Given the description of an element on the screen output the (x, y) to click on. 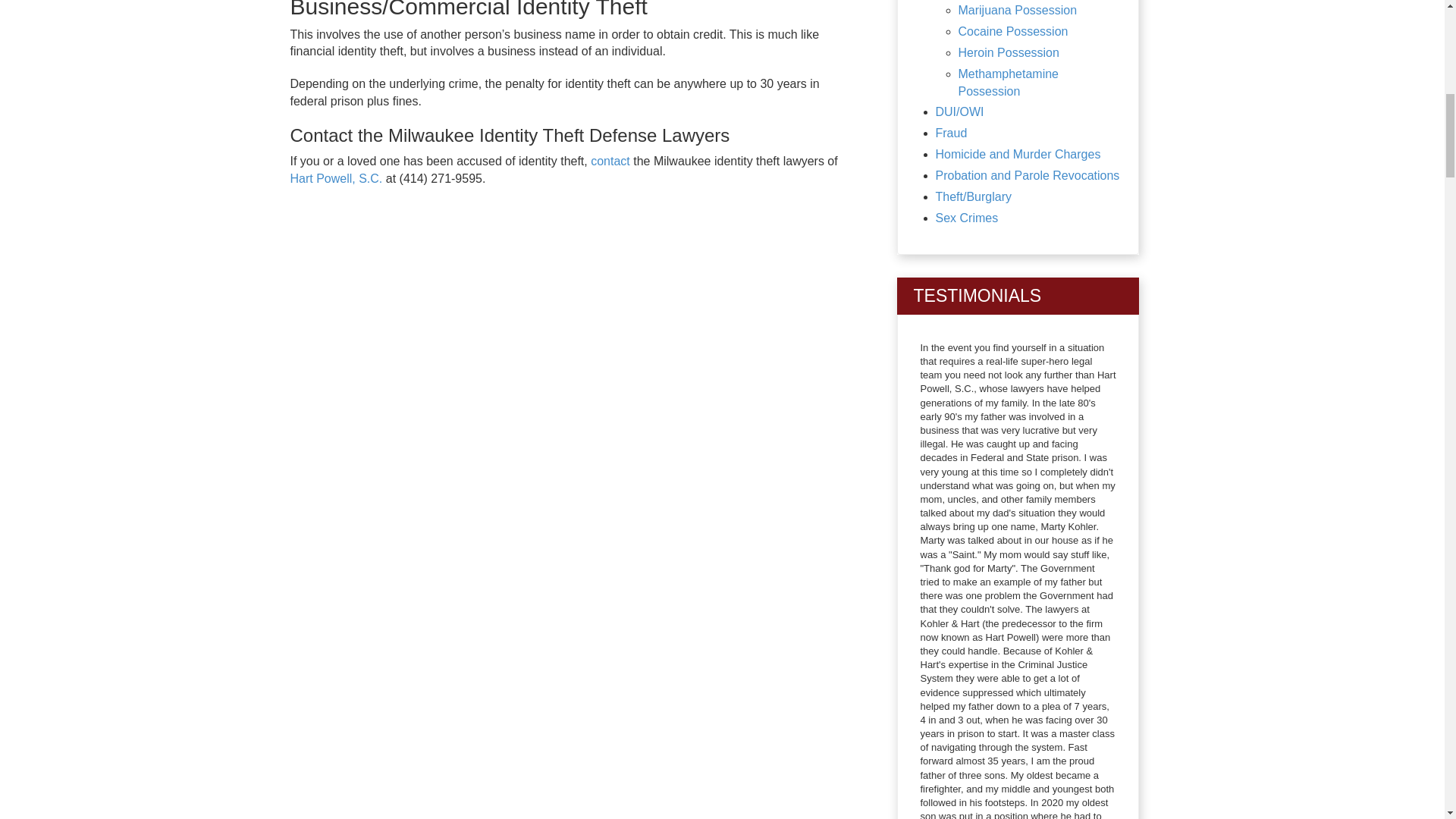
Hart Powell, S.C. (335, 178)
Fraud (952, 132)
Methamphetamine Possession (1008, 82)
Marijuana Possession (1017, 10)
Heroin Possession (1008, 51)
Cocaine Possession (1013, 31)
contact (610, 160)
